Given the description of an element on the screen output the (x, y) to click on. 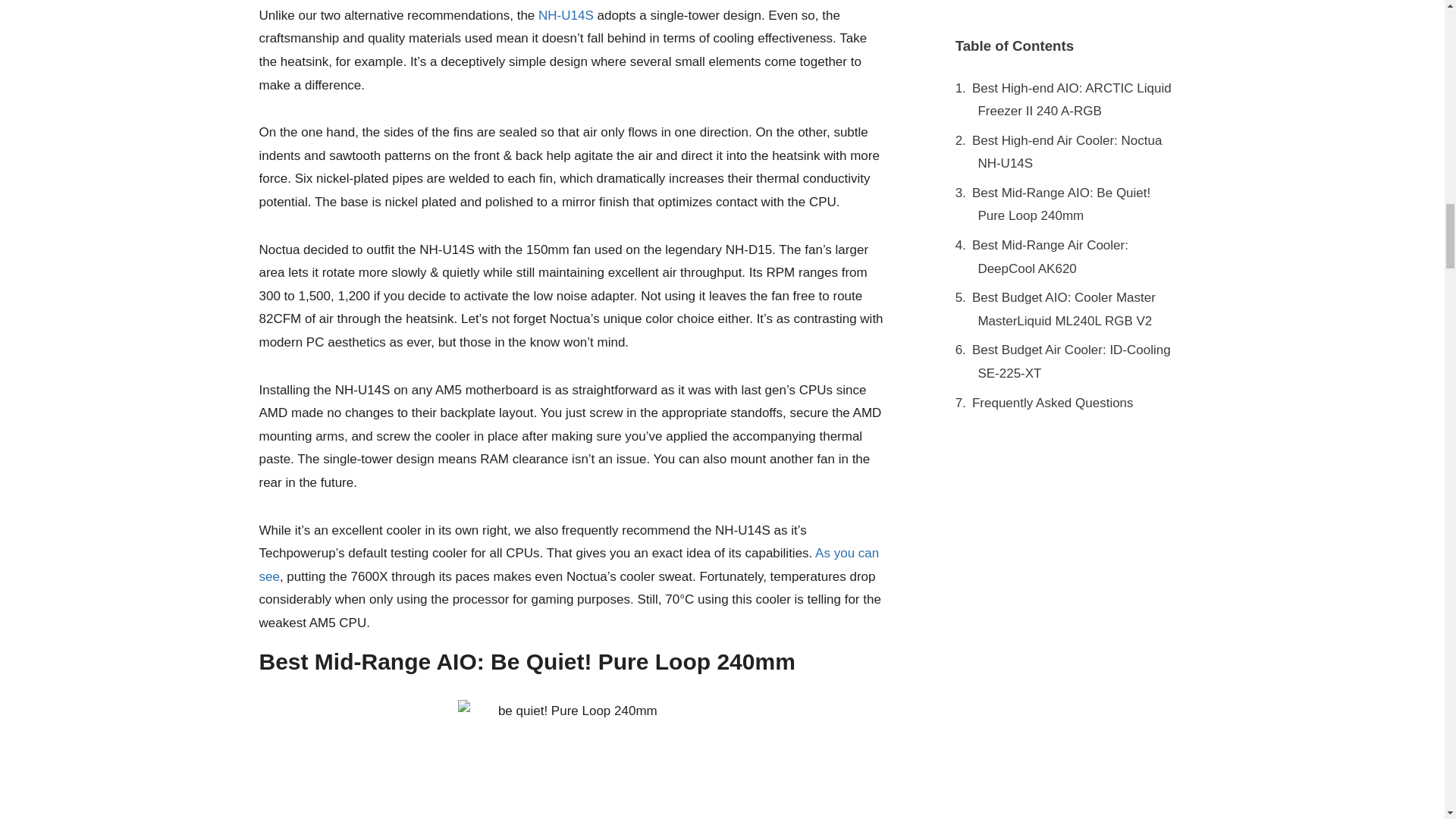
As you can see (569, 564)
NH-U14S (566, 15)
